Given the description of an element on the screen output the (x, y) to click on. 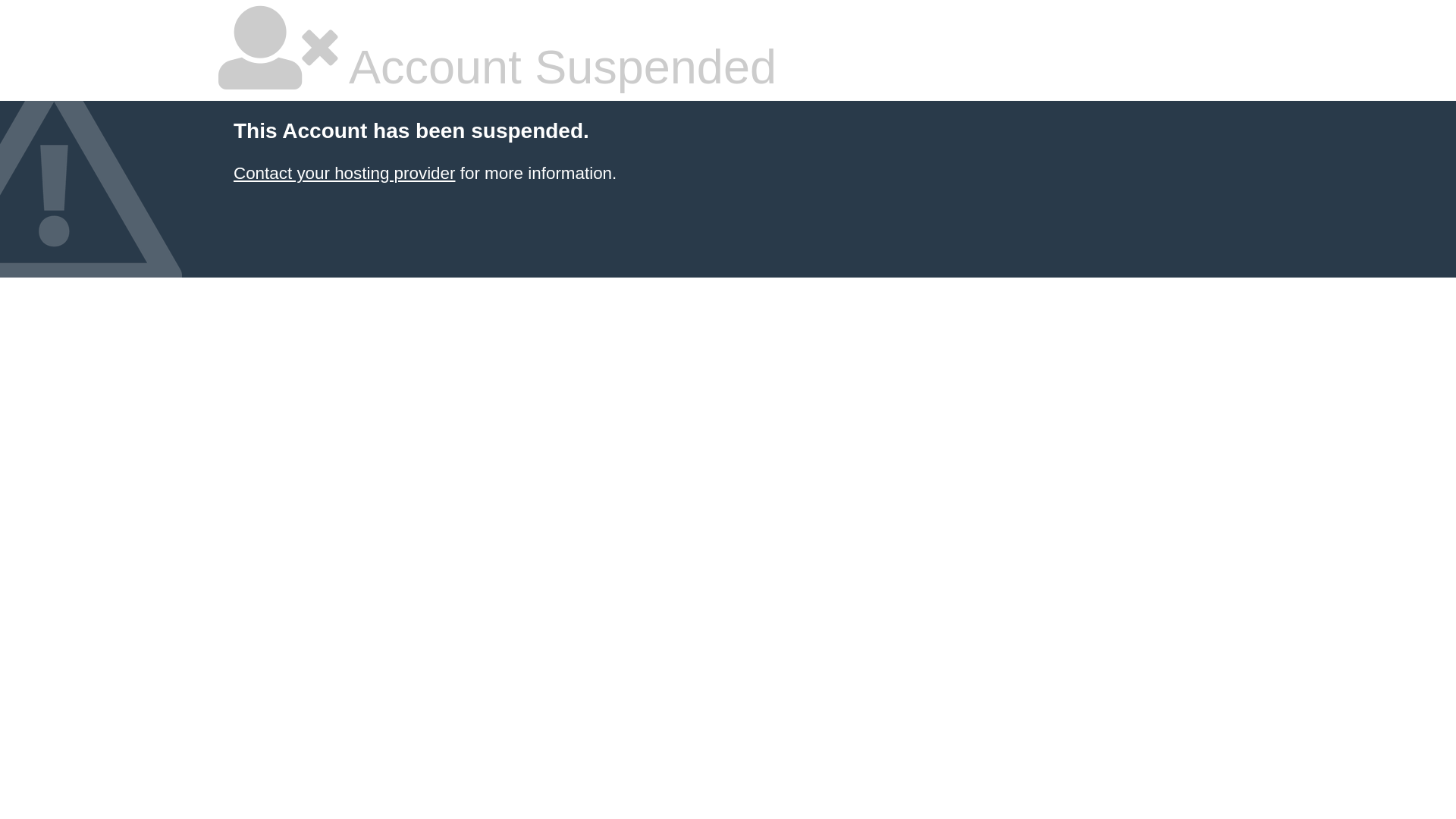
Contact your hosting provider Element type: text (344, 172)
